Given the description of an element on the screen output the (x, y) to click on. 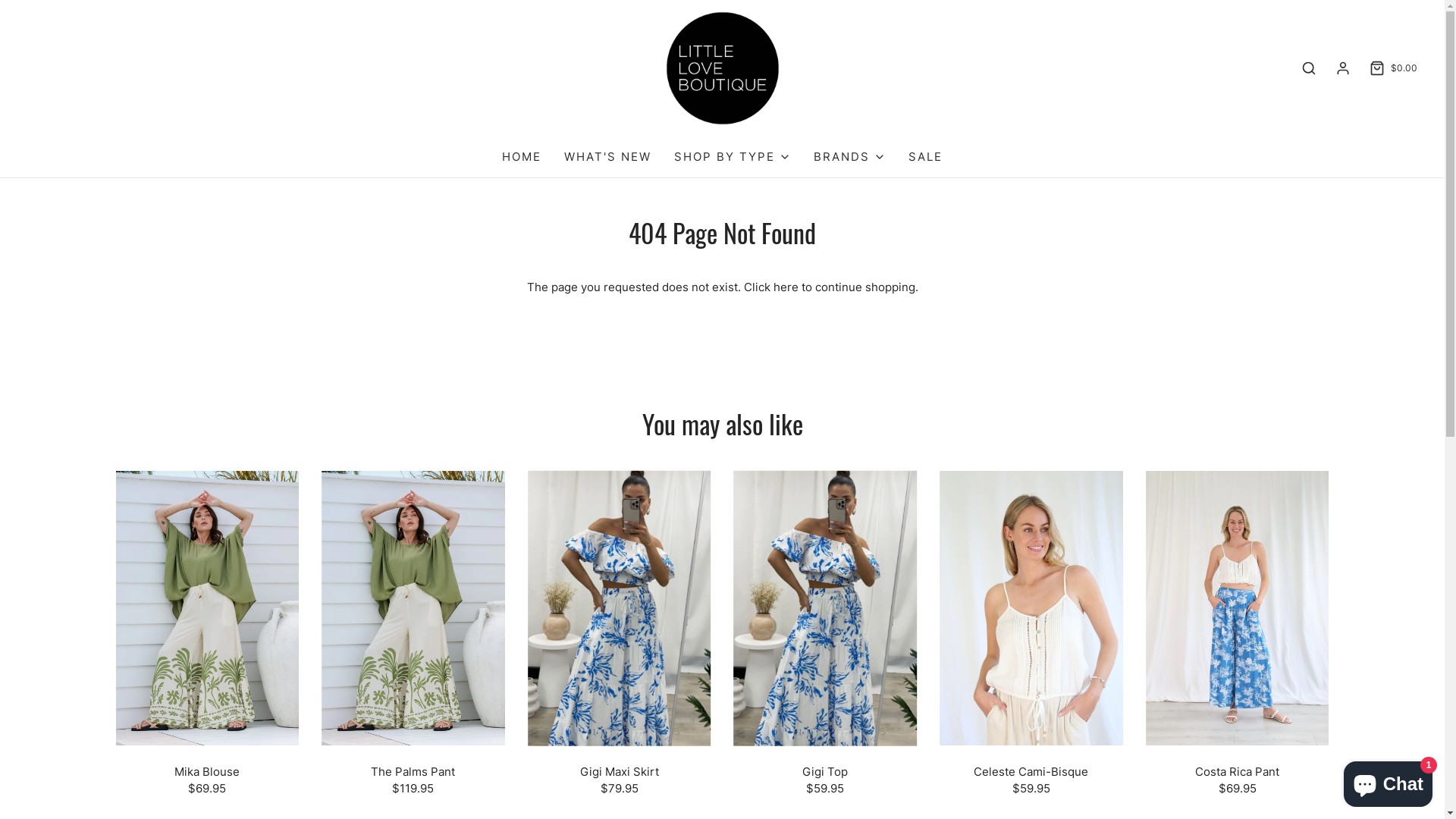
Gigi Top Element type: hover (824, 607)
here Element type: text (785, 286)
SHOP BY TYPE Element type: text (732, 156)
$0.00 Element type: text (1392, 68)
BRANDS Element type: text (849, 156)
HOME Element type: text (521, 156)
Mika Blouse Element type: hover (206, 607)
The Palms Pant Element type: hover (413, 607)
The Palms Pant
$119.95 Element type: text (413, 778)
Gigi Top
$59.95 Element type: text (824, 778)
Log in Element type: hover (1342, 67)
Search Element type: hover (1308, 68)
Shopify online store chat Element type: hover (1388, 780)
WHAT'S NEW Element type: text (607, 156)
Celeste Cami-Bisque
$59.95 Element type: text (1031, 778)
Costa Rica Pant
$69.95 Element type: text (1237, 778)
SALE Element type: text (925, 156)
Mika Blouse
$69.95 Element type: text (206, 778)
Celeste Cami-Bisque Element type: hover (1031, 607)
Costa Rica Pant Element type: hover (1237, 607)
Gigi Maxi Skirt Element type: hover (619, 607)
Gigi Maxi Skirt
$79.95 Element type: text (619, 778)
